Given the description of an element on the screen output the (x, y) to click on. 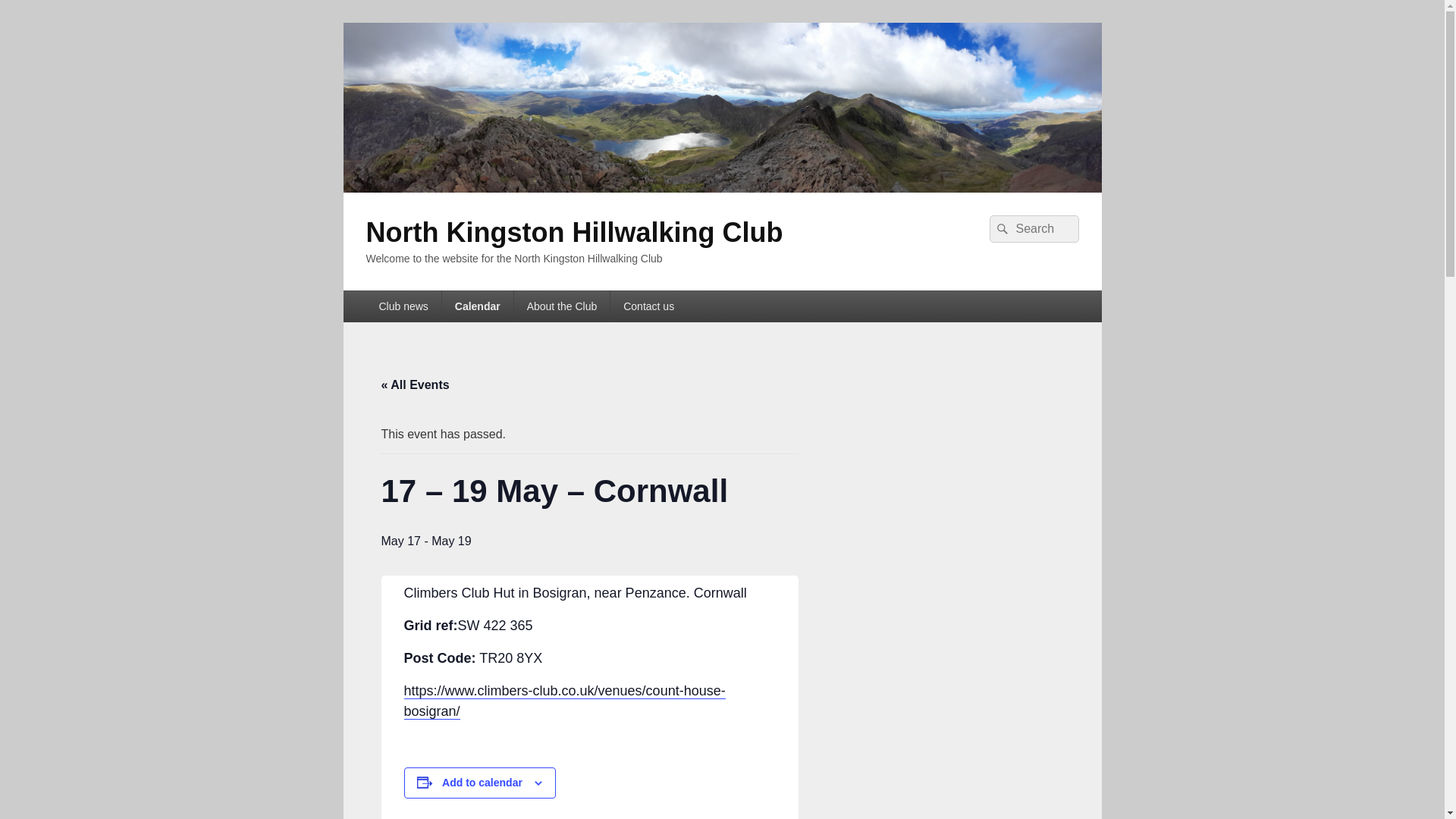
Club news (403, 305)
Search for: (1033, 228)
About the Club (561, 305)
Contact us (648, 305)
Add to calendar (482, 782)
Calendar (477, 305)
North Kingston Hillwalking Club (721, 187)
North Kingston Hillwalking Club (574, 232)
